Given the description of an element on the screen output the (x, y) to click on. 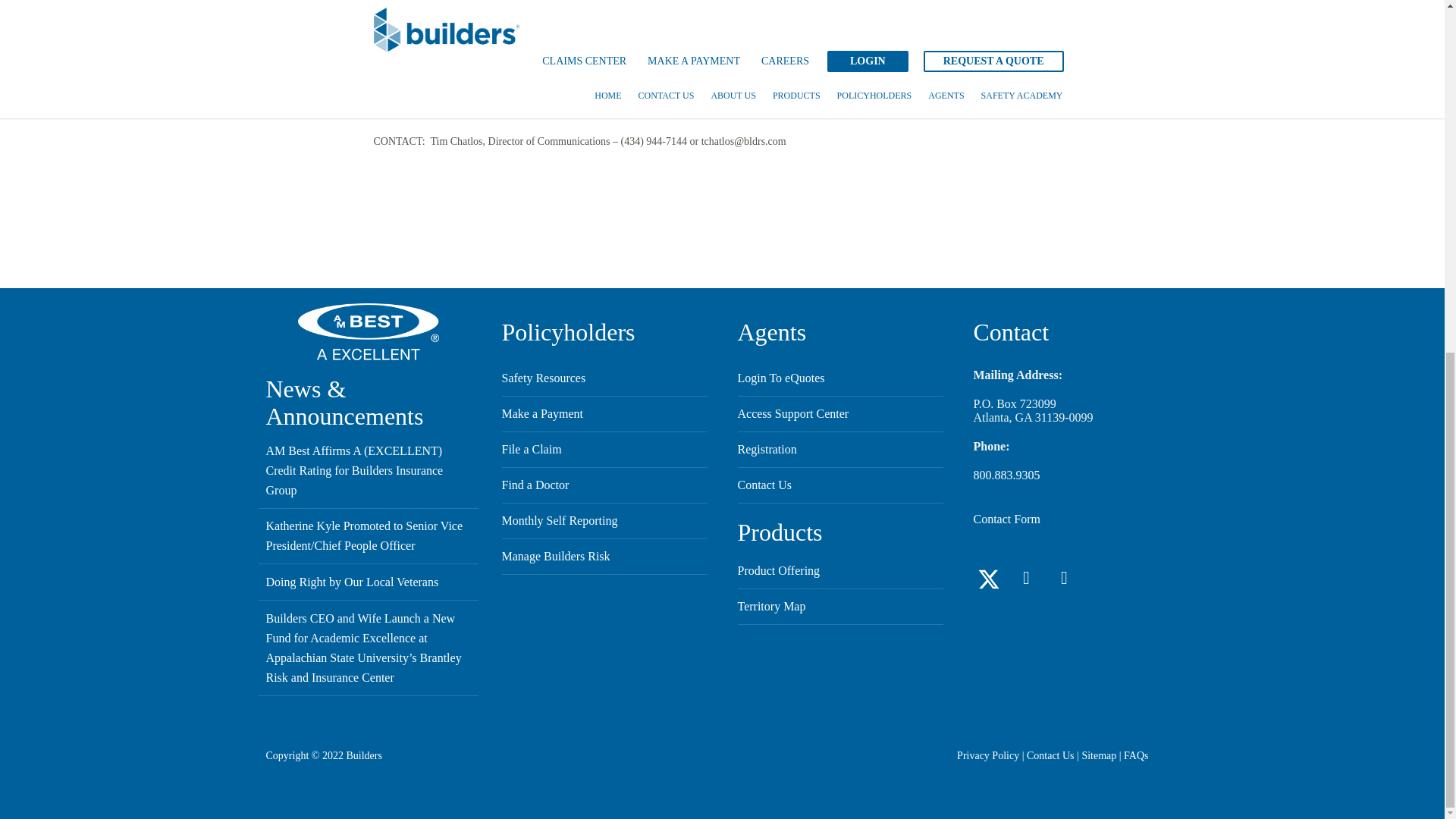
Doing Right by Our Local Veterans (351, 581)
AM Best Logo (368, 331)
LinkedIn (1026, 579)
YouTube (1064, 579)
